Given the description of an element on the screen output the (x, y) to click on. 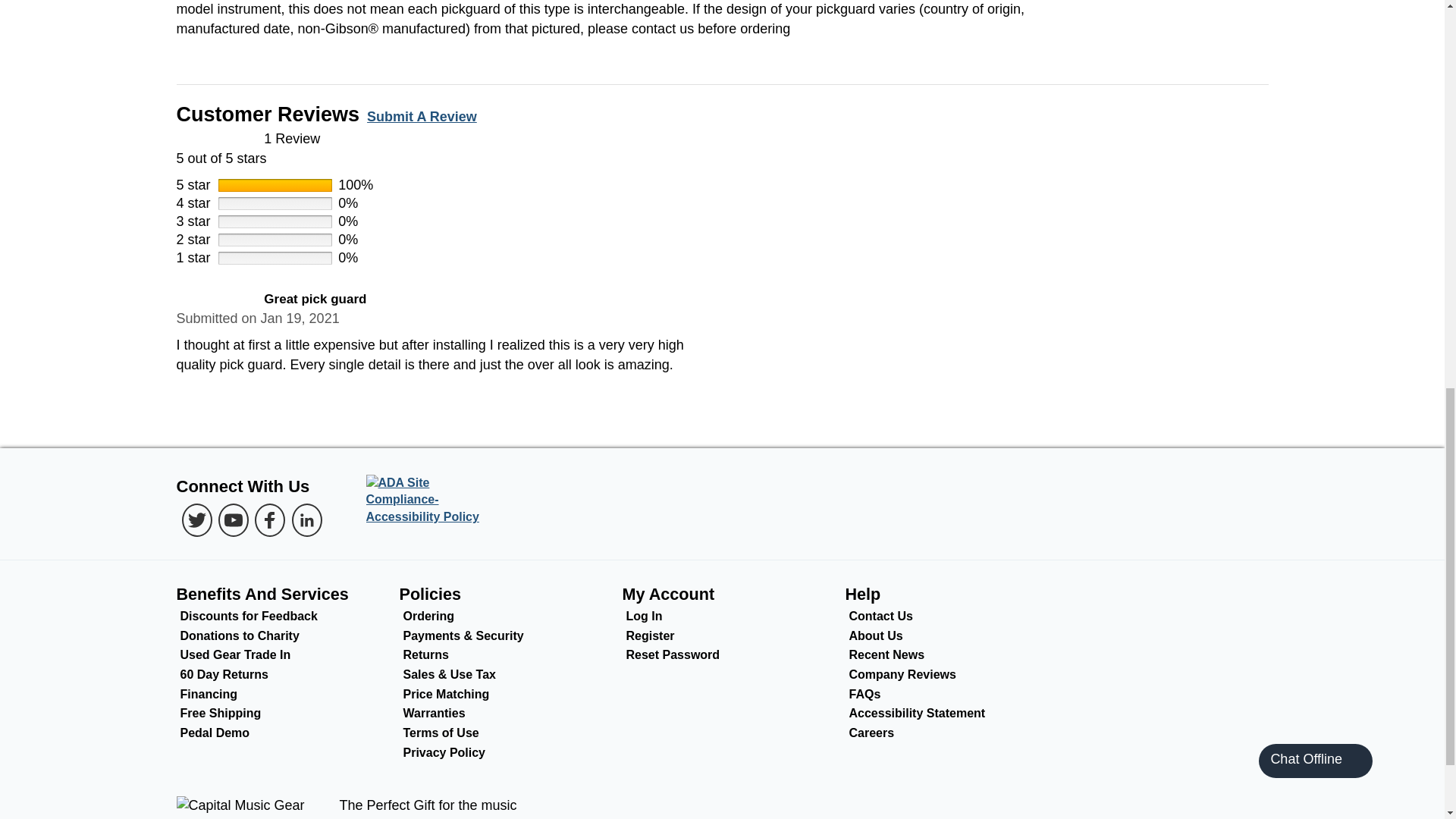
5 out of 5 (722, 148)
Our Twitter Page - Opens in new Tab (197, 520)
Our Linkedin Page - Opens in new Tab (306, 520)
Our Facebook Page - Opens in new Tab (269, 520)
Our Youtube Page - Opens in new Tab (233, 520)
ADA Site Compliance-Accessibility Policy - Opens in new tab (427, 501)
5 out of 5 (216, 299)
